Given the description of an element on the screen output the (x, y) to click on. 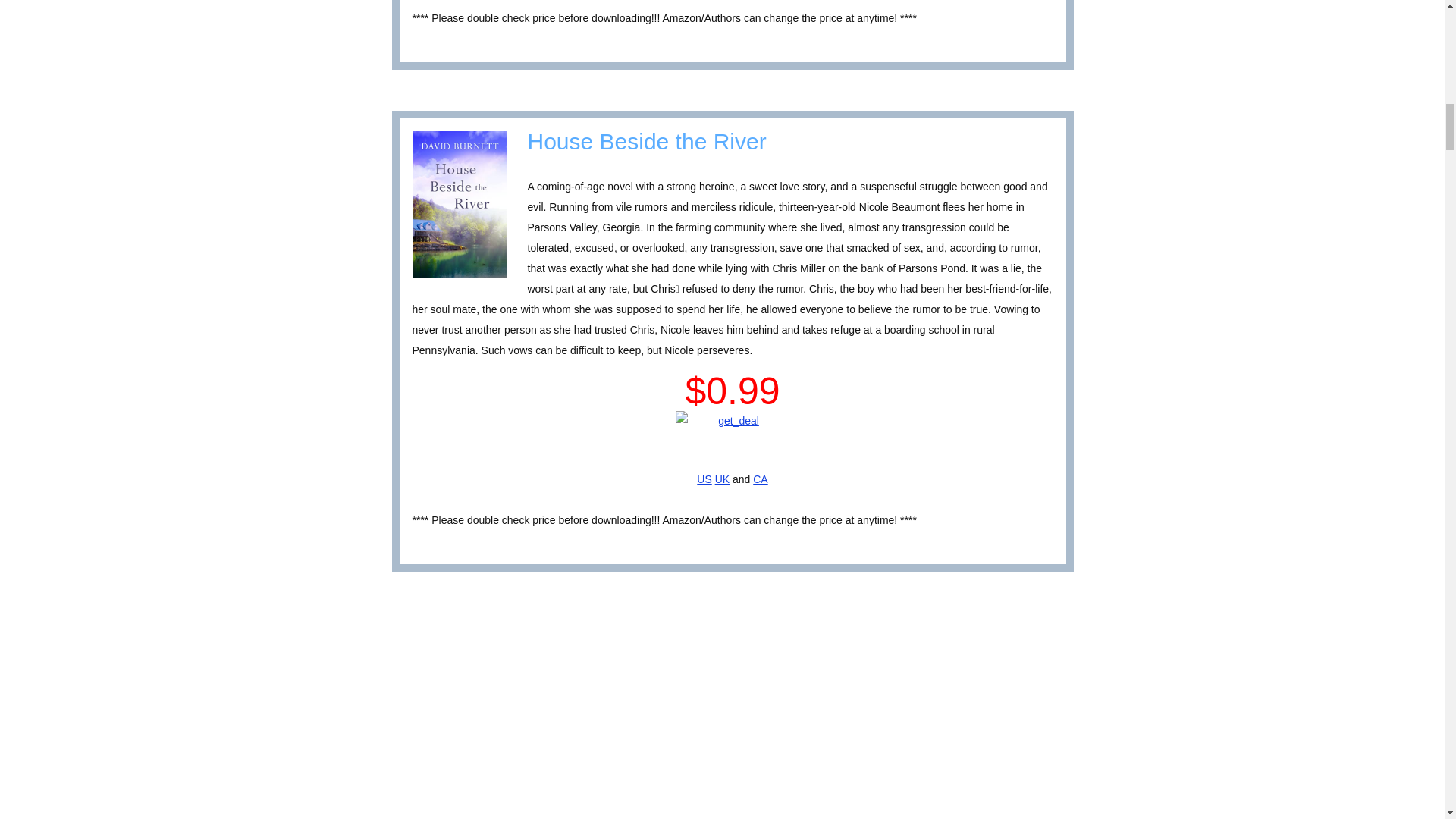
CA (759, 479)
US (704, 479)
UK (721, 479)
